Given the description of an element on the screen output the (x, y) to click on. 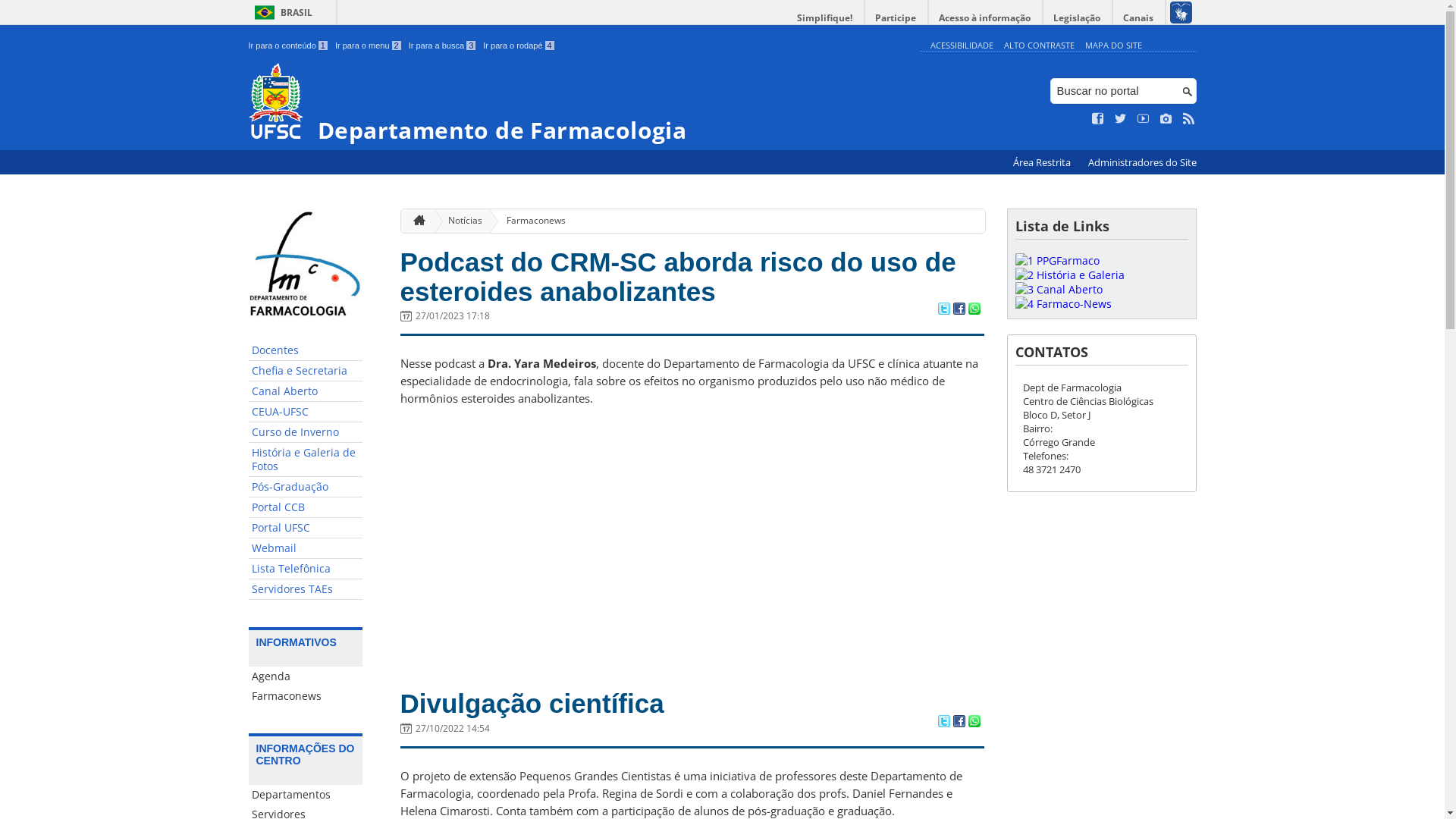
Veja no Instagram Element type: hover (1166, 118)
Curta no Facebook Element type: hover (1098, 118)
Compartilhar no WhatsApp Element type: hover (973, 309)
MAPA DO SITE Element type: text (1112, 44)
Farmaconews Element type: text (305, 696)
Portal CCB Element type: text (305, 507)
Canais Element type: text (1138, 18)
Compartilhar no Facebook Element type: hover (958, 722)
Siga no Twitter Element type: hover (1120, 118)
Portal UFSC Element type: text (305, 527)
Compartilhar no Twitter Element type: hover (943, 309)
Canal Aberto Element type: text (305, 391)
Chefia e Secretaria Element type: text (305, 370)
Docentes Element type: text (305, 350)
Administradores do Site Element type: text (1141, 162)
Departamentos Element type: text (305, 794)
CEUA-UFSC Element type: text (305, 411)
Curso de Inverno Element type: text (305, 432)
Compartilhar no Twitter Element type: hover (943, 722)
ACESSIBILIDADE Element type: text (960, 44)
Farmaconews Element type: text (529, 220)
Participe Element type: text (895, 18)
Departamento de Farmacologia Element type: text (580, 102)
Agenda Element type: text (305, 676)
Ir para a busca 3 Element type: text (442, 45)
Compartilhar no Facebook Element type: hover (958, 309)
Simplifique! Element type: text (825, 18)
BRASIL Element type: text (280, 12)
Ir para o menu 2 Element type: text (368, 45)
ALTO CONTRASTE Element type: text (1039, 44)
Webmail Element type: text (305, 548)
Servidores TAEs Element type: text (305, 589)
Compartilhar no WhatsApp Element type: hover (973, 722)
